Given the description of an element on the screen output the (x, y) to click on. 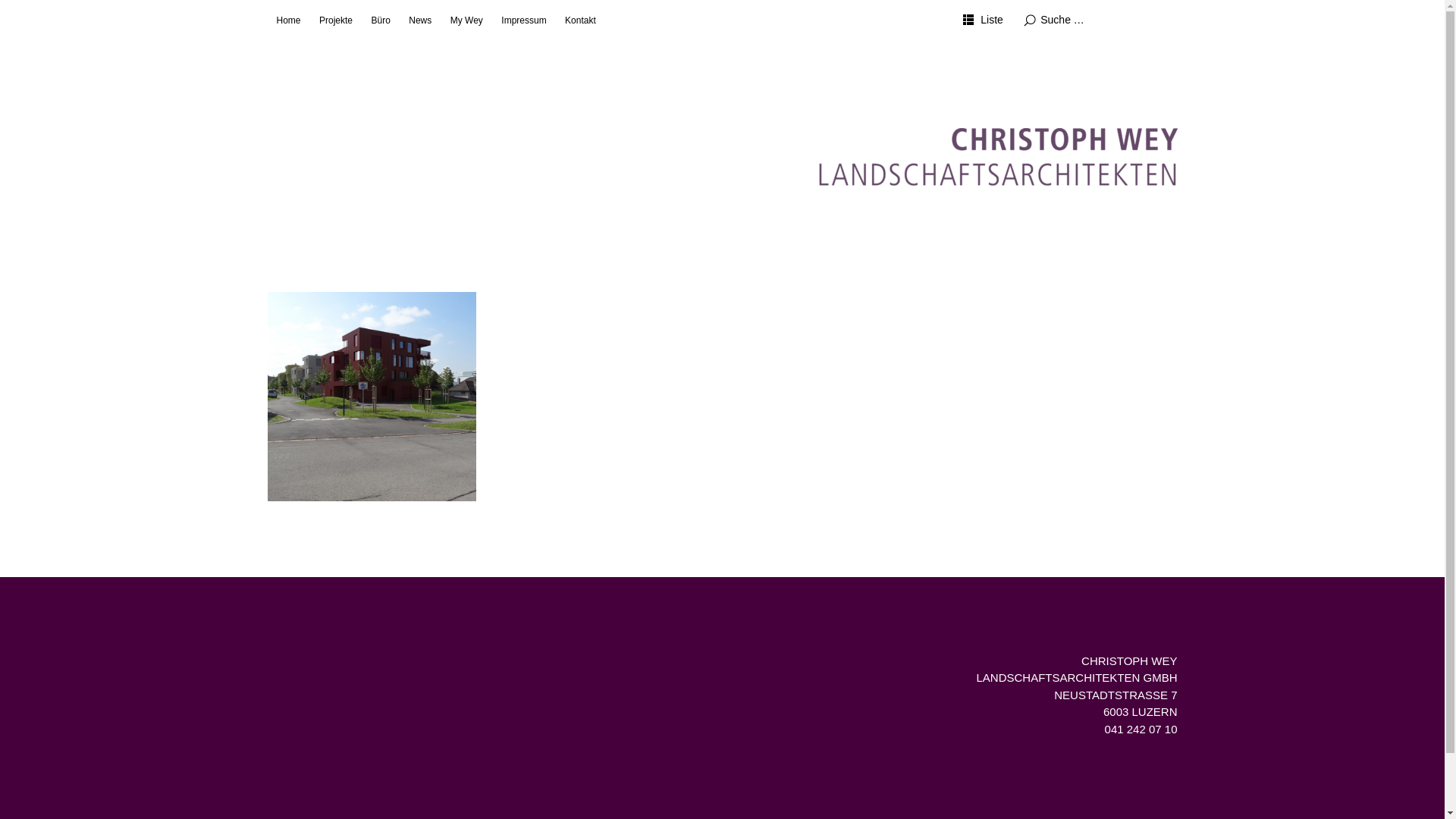
Projekte Element type: text (335, 20)
Kontakt Element type: text (580, 20)
Suche Element type: text (136, 12)
Home Element type: text (287, 20)
Permalink zu 2013 Wohnen im Alter Schenkon Element type: hover (371, 396)
Liste Element type: text (982, 20)
Impressum Element type: text (523, 20)
My Wey Element type: text (466, 20)
News Element type: text (419, 20)
